Given the description of an element on the screen output the (x, y) to click on. 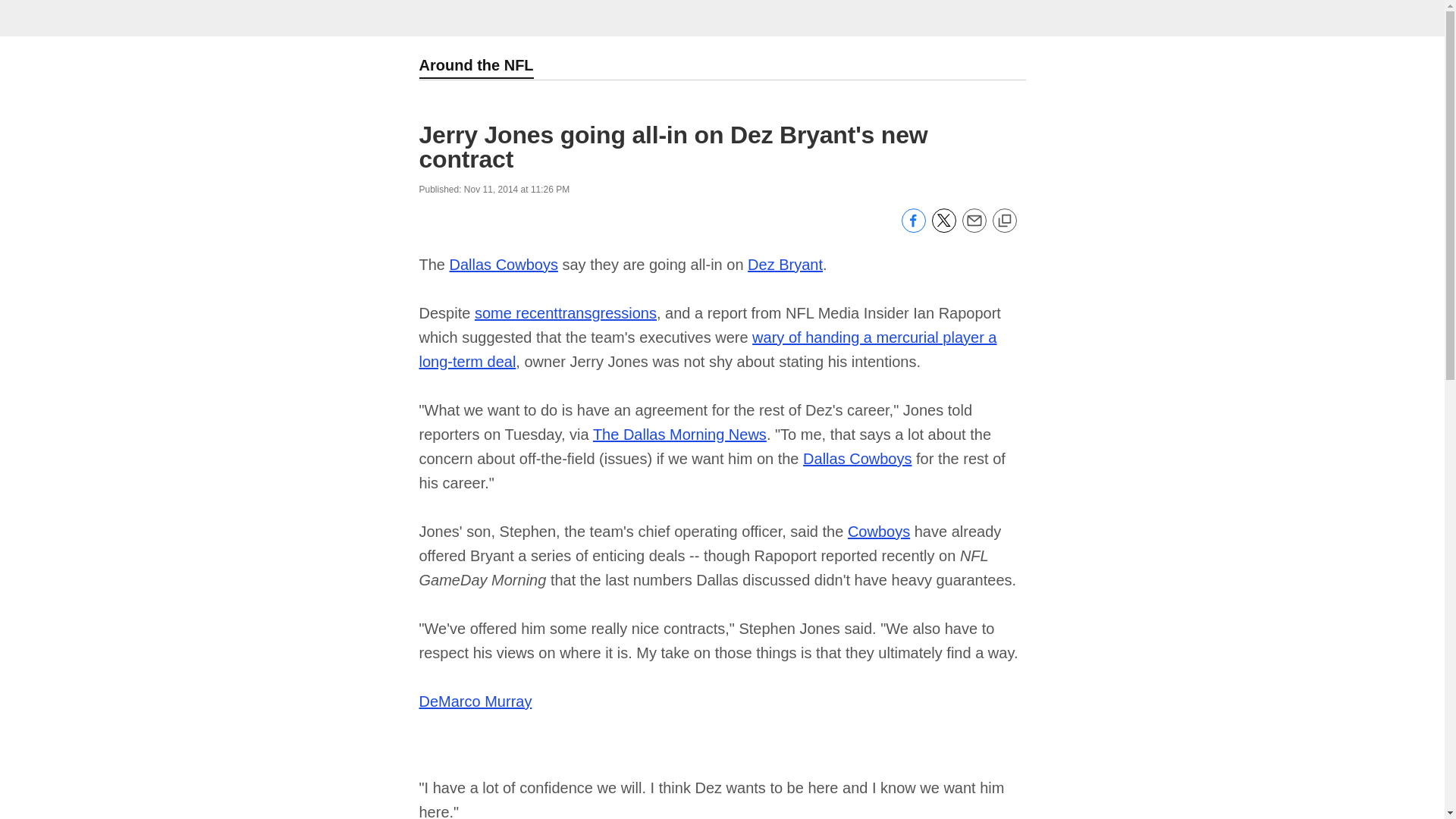
The Dallas Morning News (679, 434)
Share on Facebook (912, 228)
Dallas Cowboys (503, 264)
Share on Twitter (943, 228)
DeMarco Murray (475, 701)
Dallas Cowboys (857, 458)
Around the NFL (475, 66)
transgressions (606, 312)
some recent (515, 312)
Cowboys (878, 531)
